Given the description of an element on the screen output the (x, y) to click on. 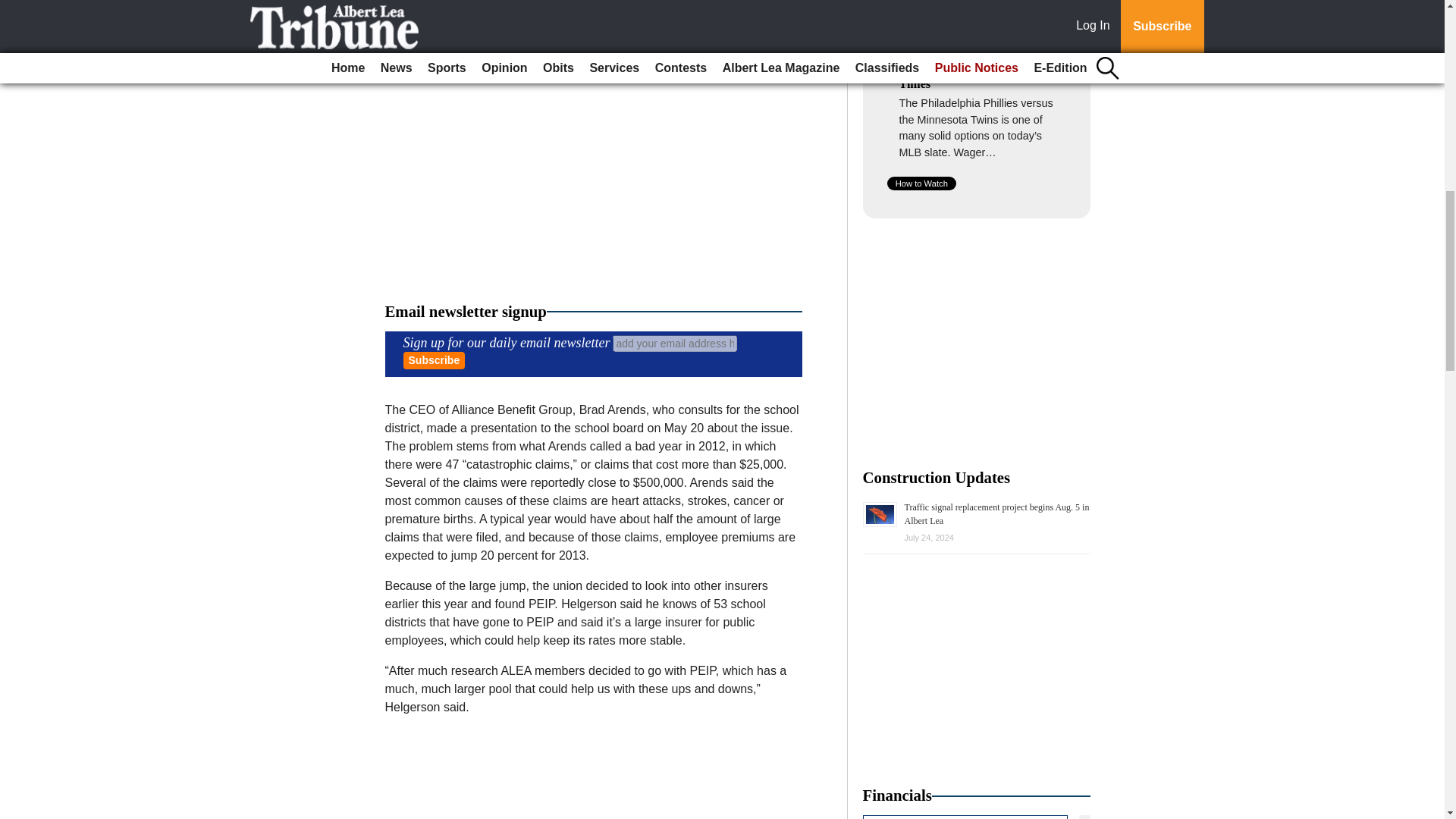
US Market Update (976, 816)
Subscribe (434, 360)
